Given the description of an element on the screen output the (x, y) to click on. 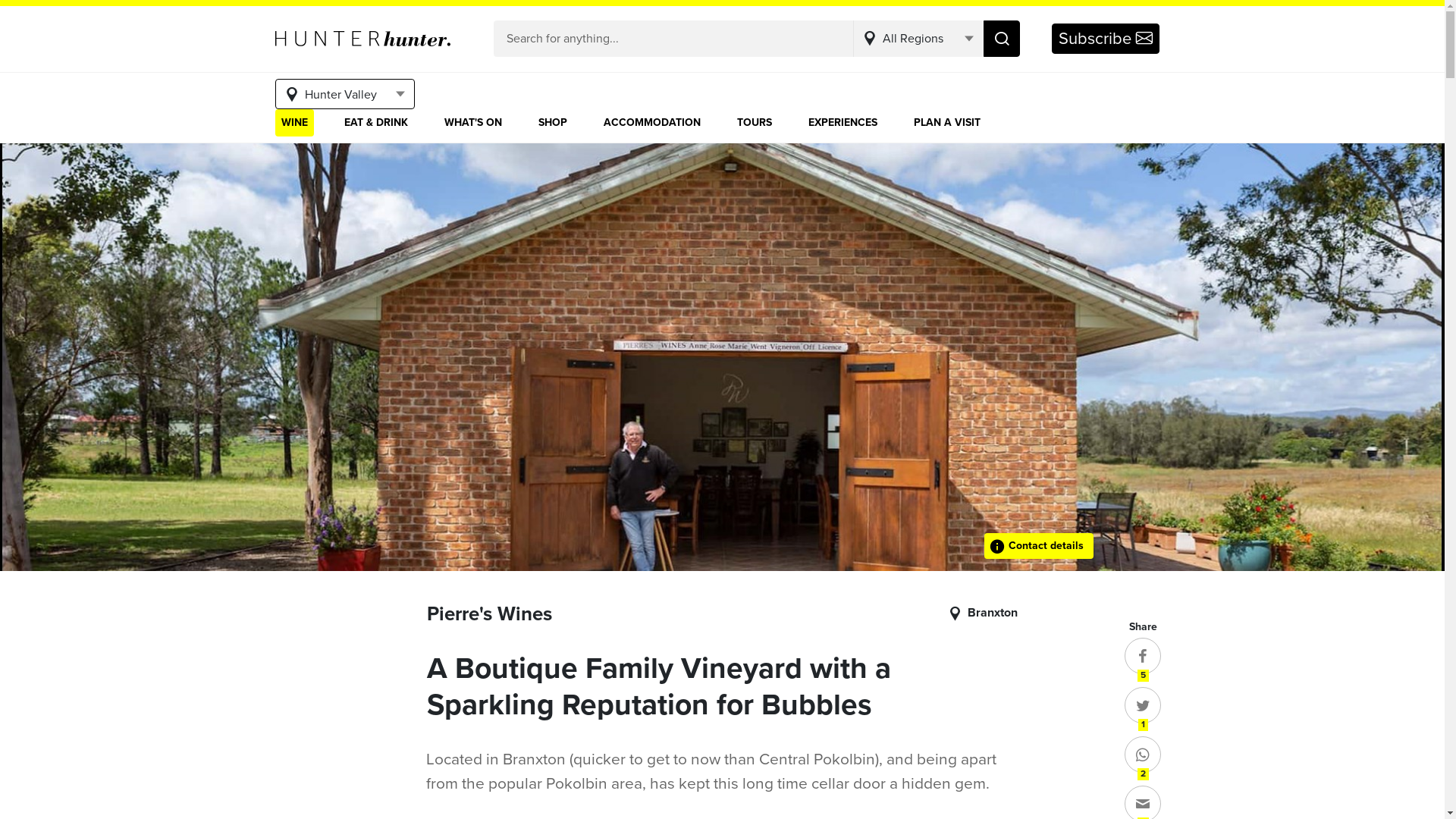
ACCOMMODATION Element type: text (651, 122)
SHOP Element type: text (552, 122)
WHAT'S ON Element type: text (473, 122)
WINE Element type: text (293, 122)
Subscribe Element type: text (1104, 38)
EAT & DRINK Element type: text (376, 122)
Contact details Element type: text (1038, 545)
PLAN A VISIT Element type: text (945, 122)
TOURS Element type: text (754, 122)
EXPERIENCES Element type: text (842, 122)
